Given the description of an element on the screen output the (x, y) to click on. 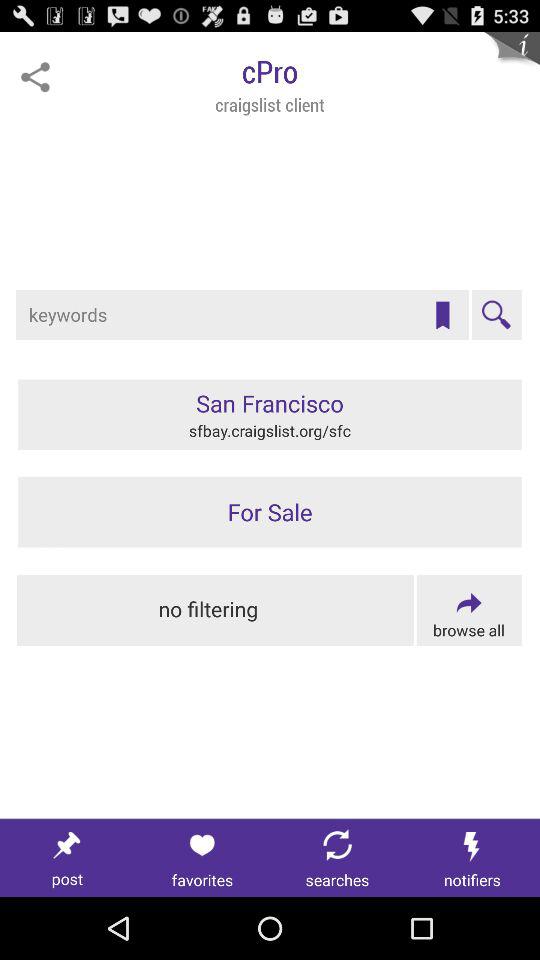
browse all options (468, 610)
